Given the description of an element on the screen output the (x, y) to click on. 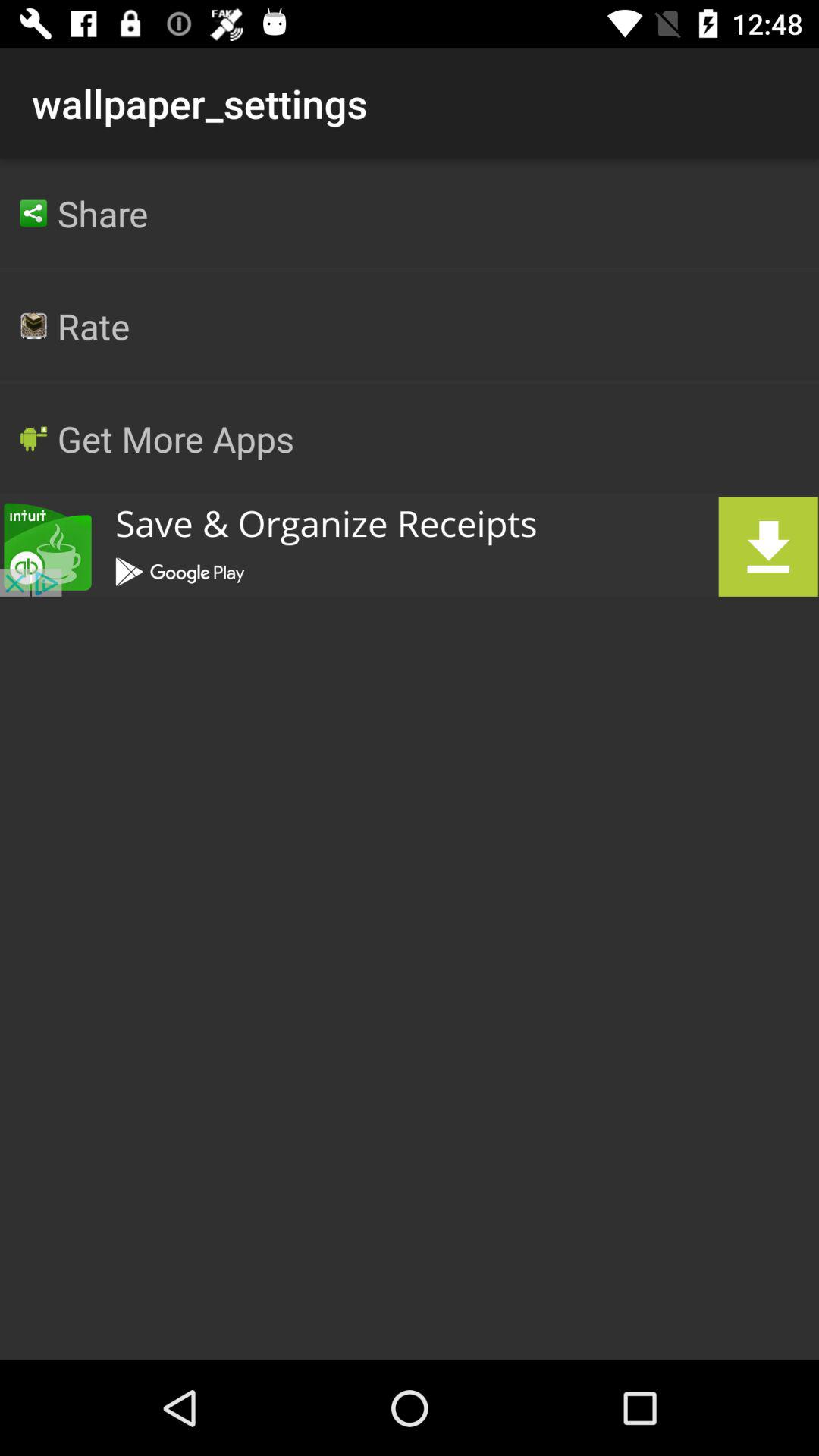
todo aqui (409, 546)
